Given the description of an element on the screen output the (x, y) to click on. 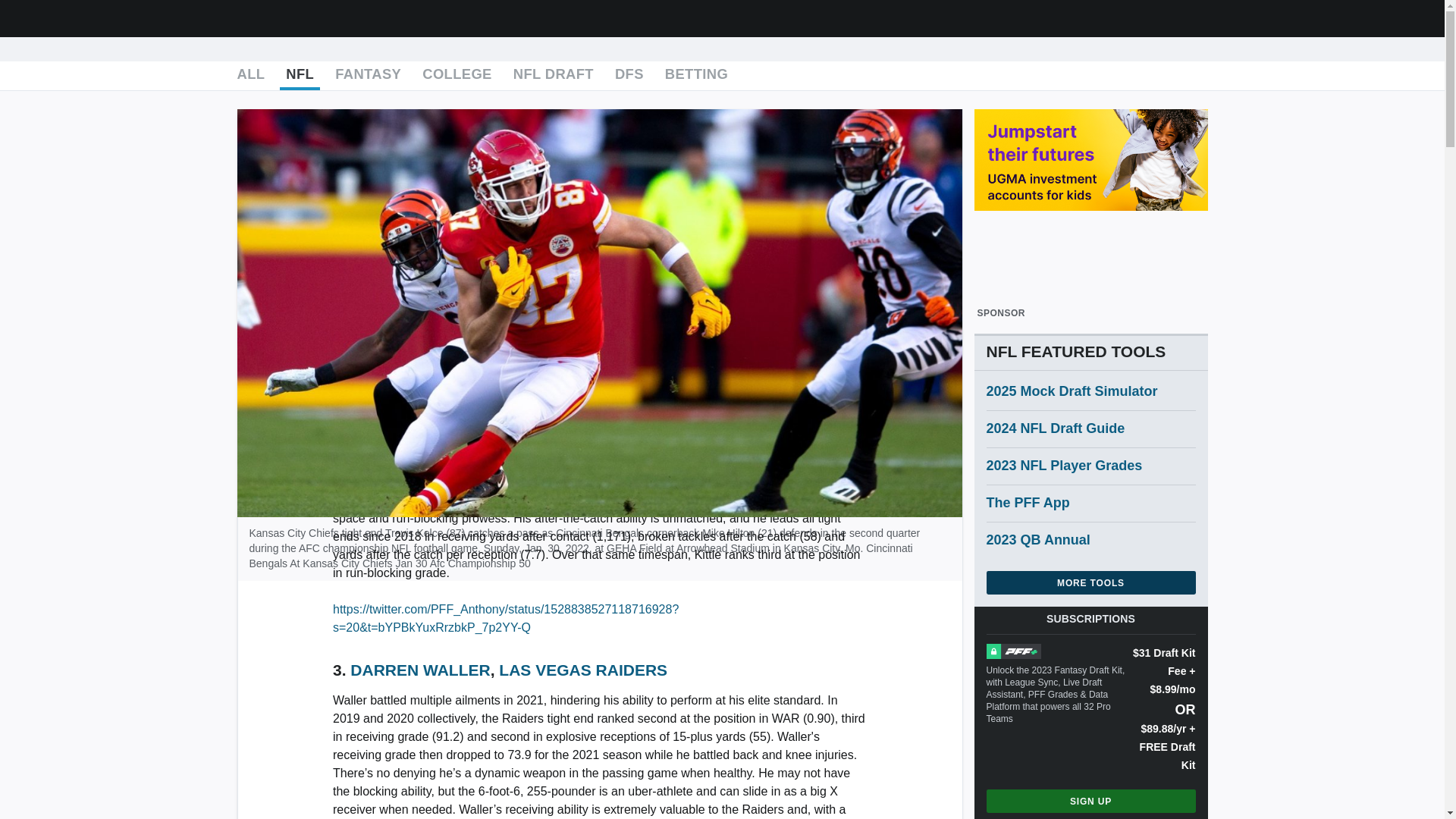
Anthony Treash (300, 128)
FANTASY (368, 75)
NFL DRAFT (552, 75)
COLLEGE (456, 75)
LAS VEGAS RAIDERS (582, 669)
SAN FRANCISCO 49ERS (583, 451)
DFS (628, 75)
KANSAS CITY CHIEFS (559, 287)
BETTING (696, 75)
ALL (250, 75)
